Given the description of an element on the screen output the (x, y) to click on. 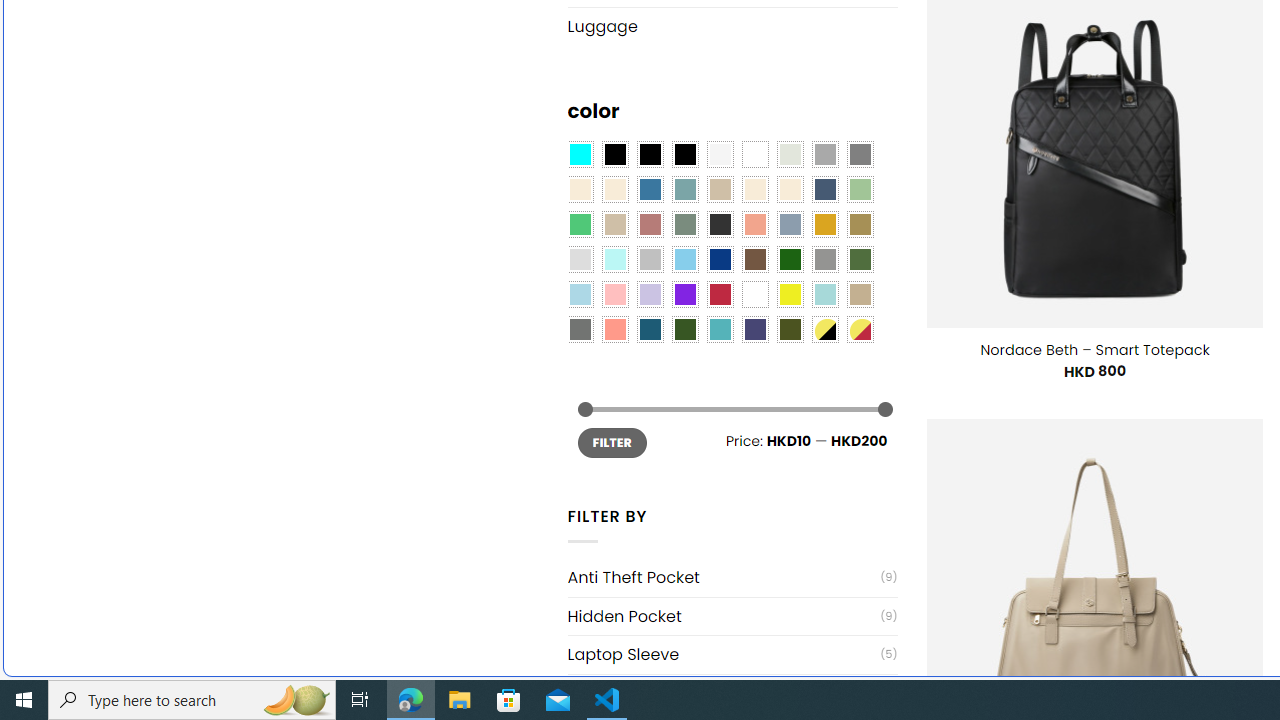
USB Charging Port (723, 693)
Light Green (859, 190)
Gray (824, 259)
Forest (684, 329)
Silver (650, 259)
Hidden Pocket(9) (732, 615)
Black (650, 154)
Kelp (859, 224)
Caramel (755, 190)
Dusty Blue (789, 224)
USB Charging Port(5) (732, 692)
Brown (755, 259)
Hale Navy (824, 190)
Light Gray (579, 259)
Sage (684, 224)
